Given the description of an element on the screen output the (x, y) to click on. 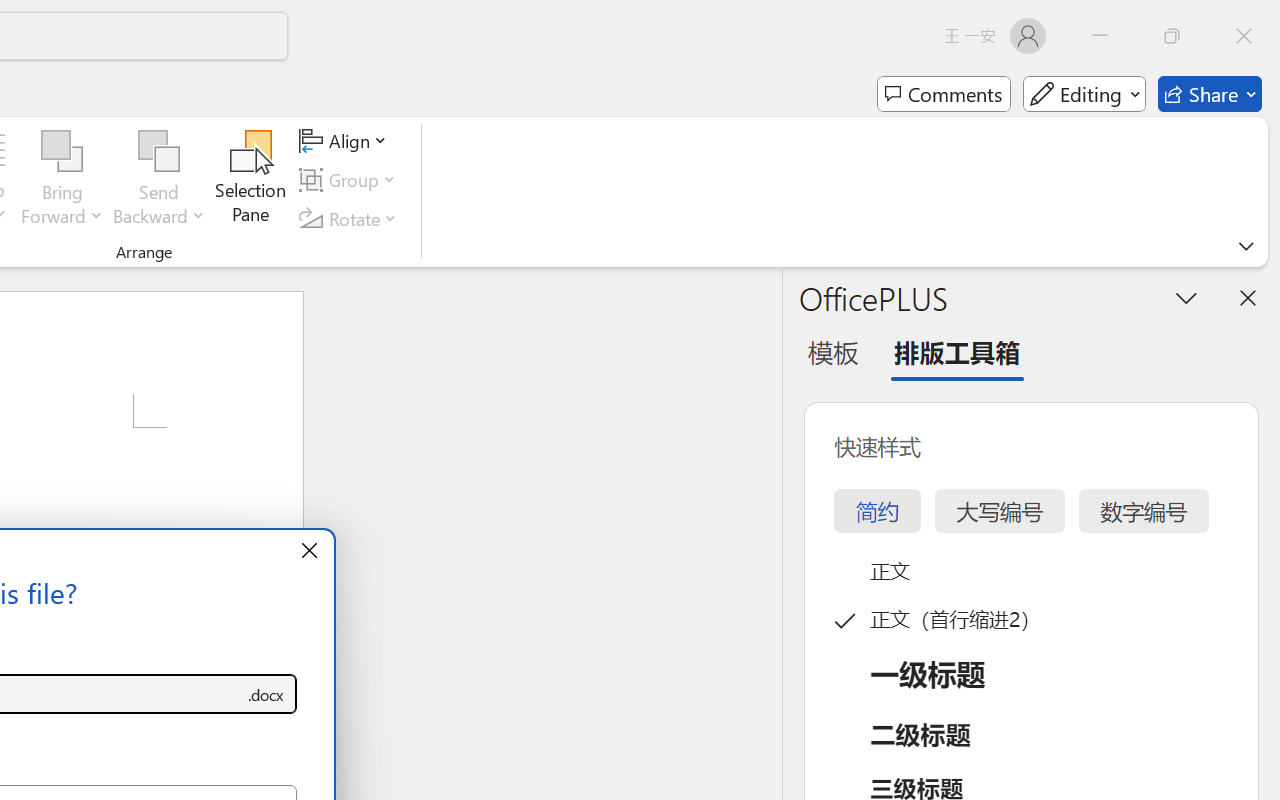
Align (346, 141)
Send Backward (159, 179)
Bring Forward (62, 151)
Selection Pane... (251, 179)
